Given the description of an element on the screen output the (x, y) to click on. 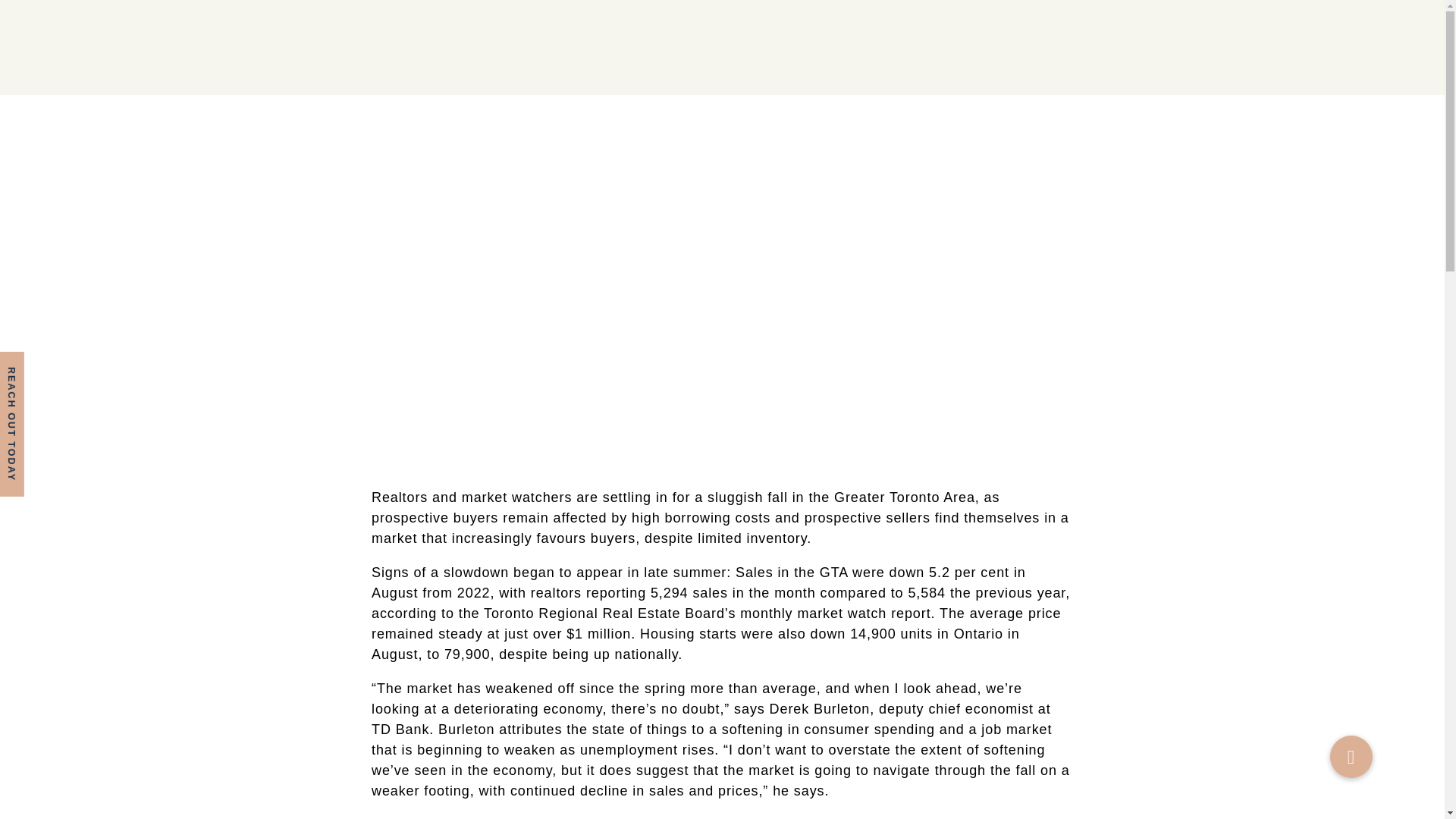
REACH OUT TODAY (72, 363)
